Given the description of an element on the screen output the (x, y) to click on. 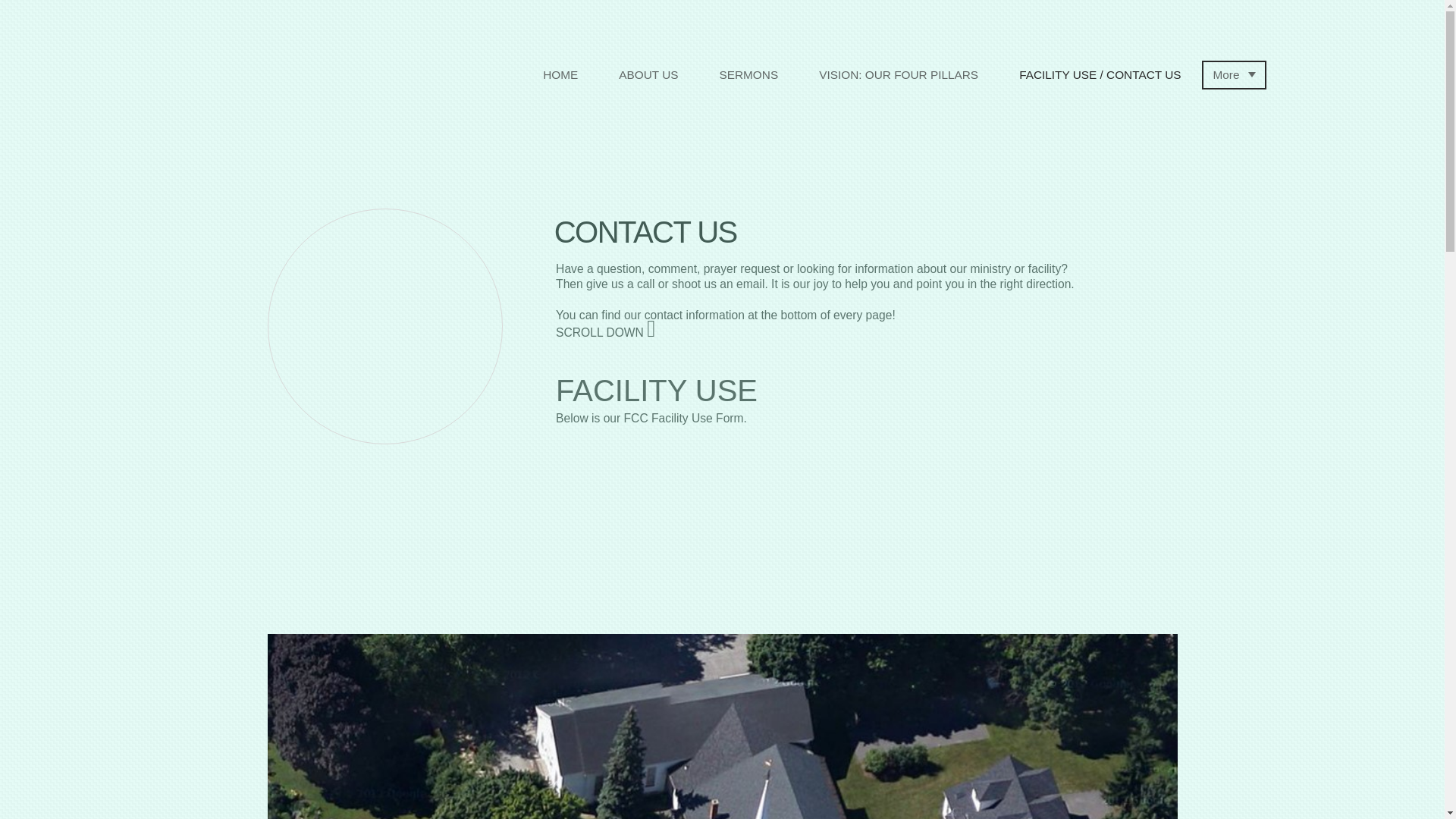
VISION: OUR FOUR PILLARS (897, 74)
HOME (560, 74)
SERMONS (747, 74)
ABOUT US (648, 74)
